Given the description of an element on the screen output the (x, y) to click on. 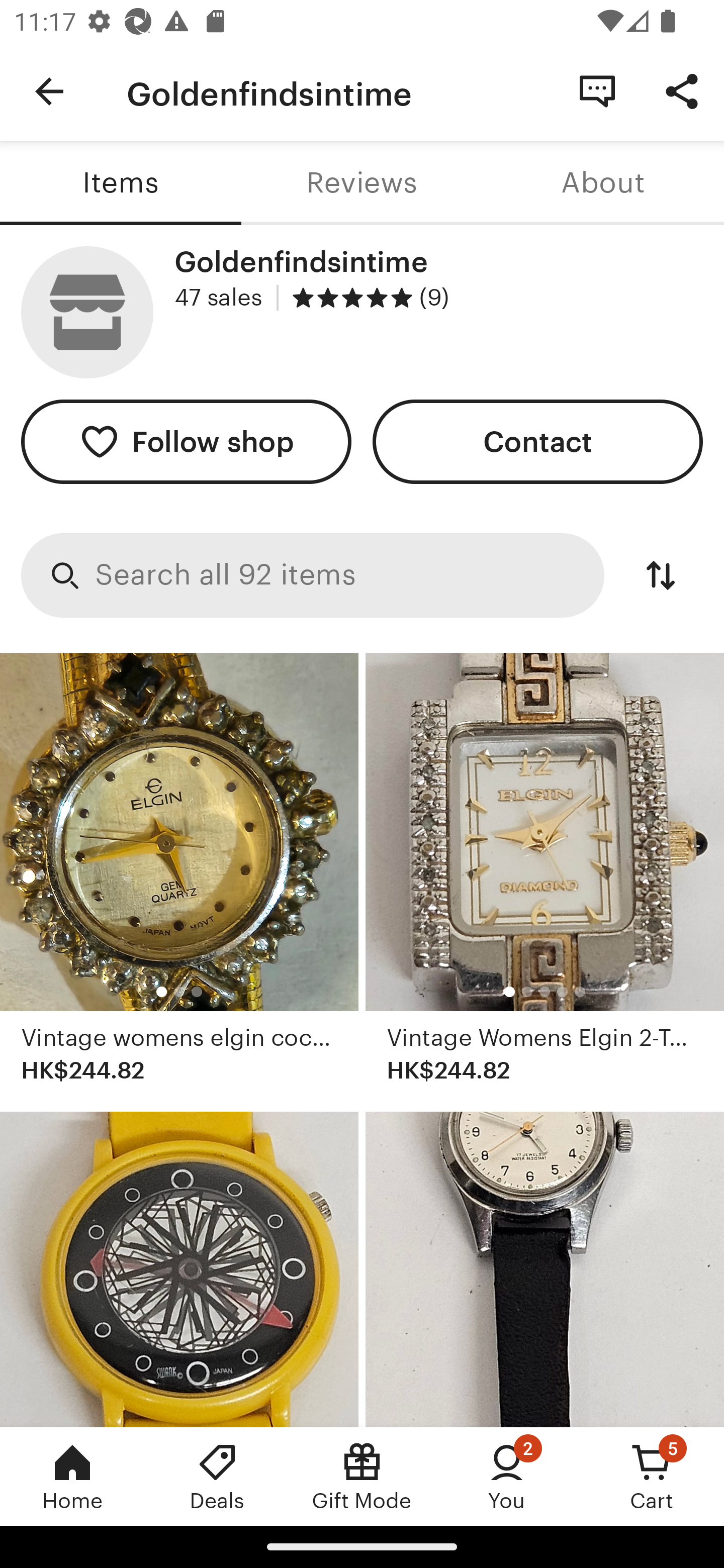
Navigate up (49, 91)
Contact Shop (597, 90)
Share (681, 90)
Reviews (361, 183)
About (603, 183)
Follow shop (185, 441)
Contact (537, 441)
Search Search all 92 items (312, 575)
Deals (216, 1475)
Gift Mode (361, 1475)
You, 2 new notifications You (506, 1475)
Cart, 5 new notifications Cart (651, 1475)
